Given the description of an element on the screen output the (x, y) to click on. 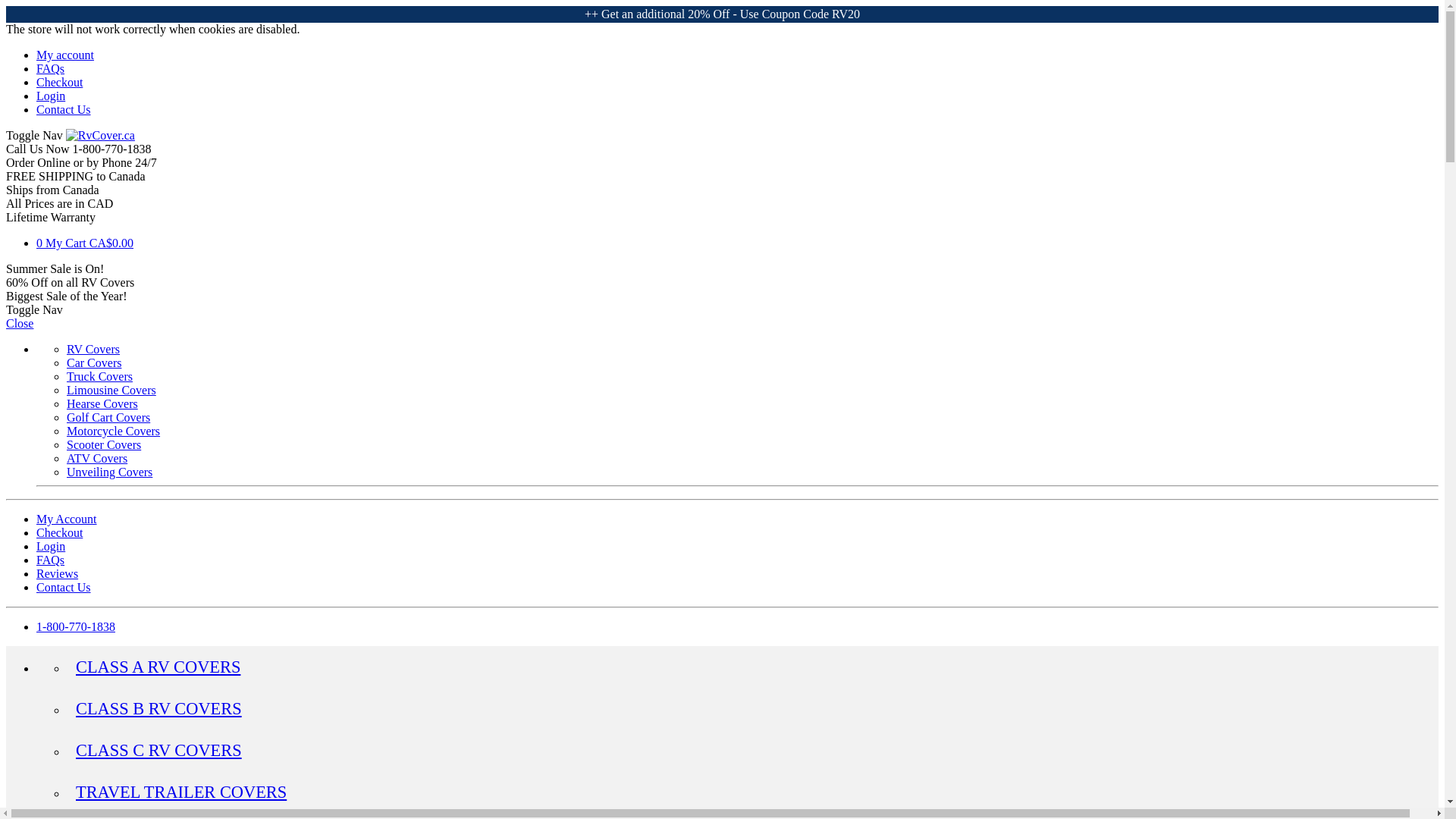
Checkout (59, 532)
Class C RV covers (158, 750)
FAQs (50, 68)
RvCover.ca (100, 135)
FAQs (50, 68)
Motorcycle Covers (113, 431)
Car Covers (93, 362)
Login (50, 95)
Truck Covers (99, 376)
Contact Us (63, 109)
My Account (66, 518)
Limousine Covers (110, 390)
Hearse Covers (102, 403)
Close (19, 323)
My Account (66, 518)
